Given the description of an element on the screen output the (x, y) to click on. 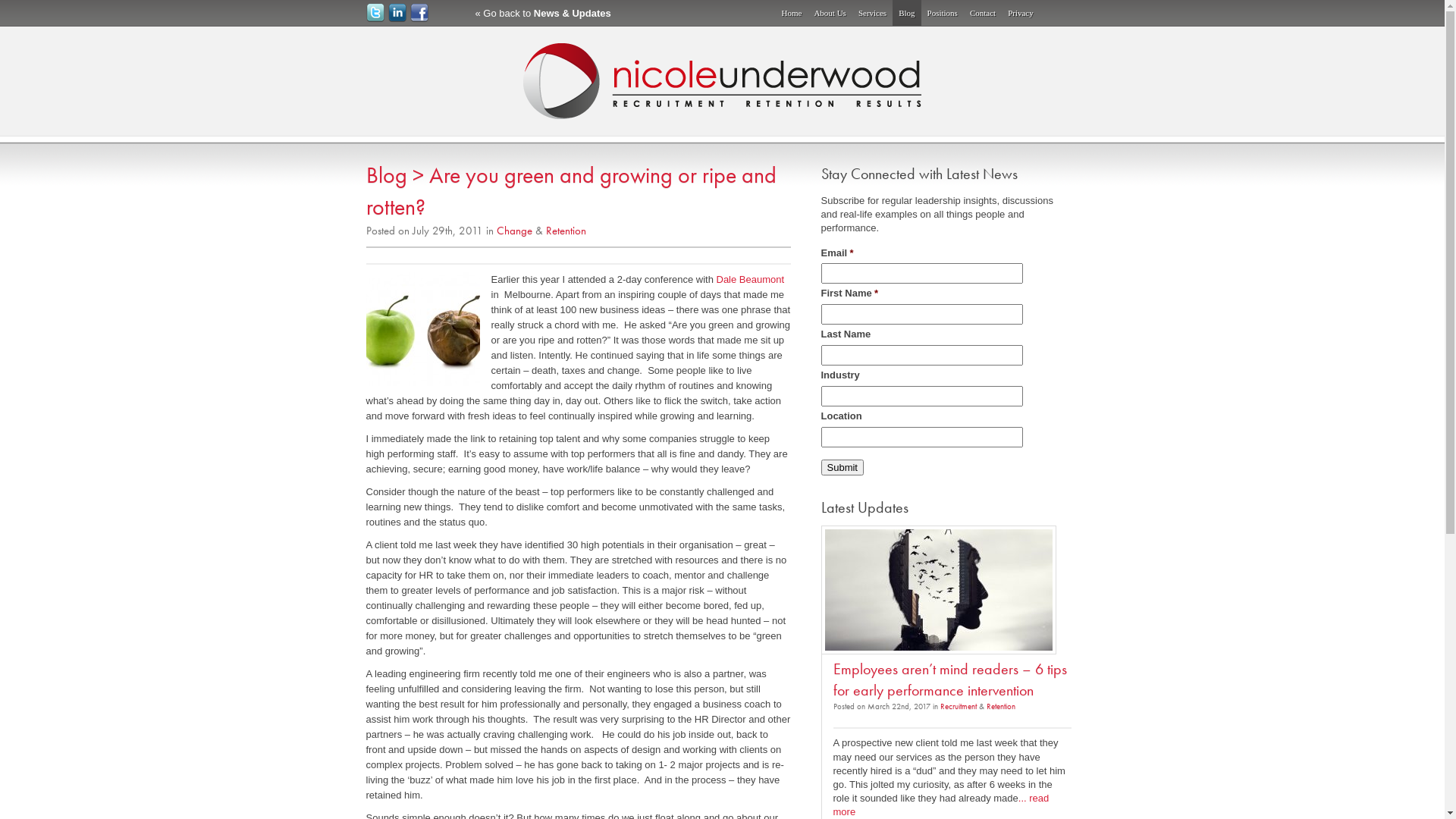
Like Nicole Underwood on Facebook Element type: hover (418, 12)
Positions Element type: text (942, 12)
Dale Beaumont Element type: text (749, 279)
Contact Element type: text (982, 12)
About Us Element type: text (829, 12)
Privacy Element type: text (1020, 12)
Services Element type: text (872, 12)
Join Nicole Underwood on LinkedIn Element type: hover (397, 12)
Retention Element type: text (566, 230)
Retention Element type: text (999, 705)
Like Nicole Underwood on Facebook Element type: hover (418, 18)
Follow Nicole Underwood on Twitter Element type: hover (374, 12)
Recruitment Element type: text (958, 705)
Submit Element type: text (841, 467)
Blog Element type: text (385, 174)
Home Element type: text (791, 12)
Change Element type: text (513, 230)
Follow Nicole Underwood on Twitter Element type: hover (374, 18)
... read more Element type: text (940, 804)
Join Nicole Underwood on LinkedIn Element type: hover (397, 18)
Green and ripe or rotten Element type: hover (422, 328)
Blog Element type: text (906, 12)
